Given the description of an element on the screen output the (x, y) to click on. 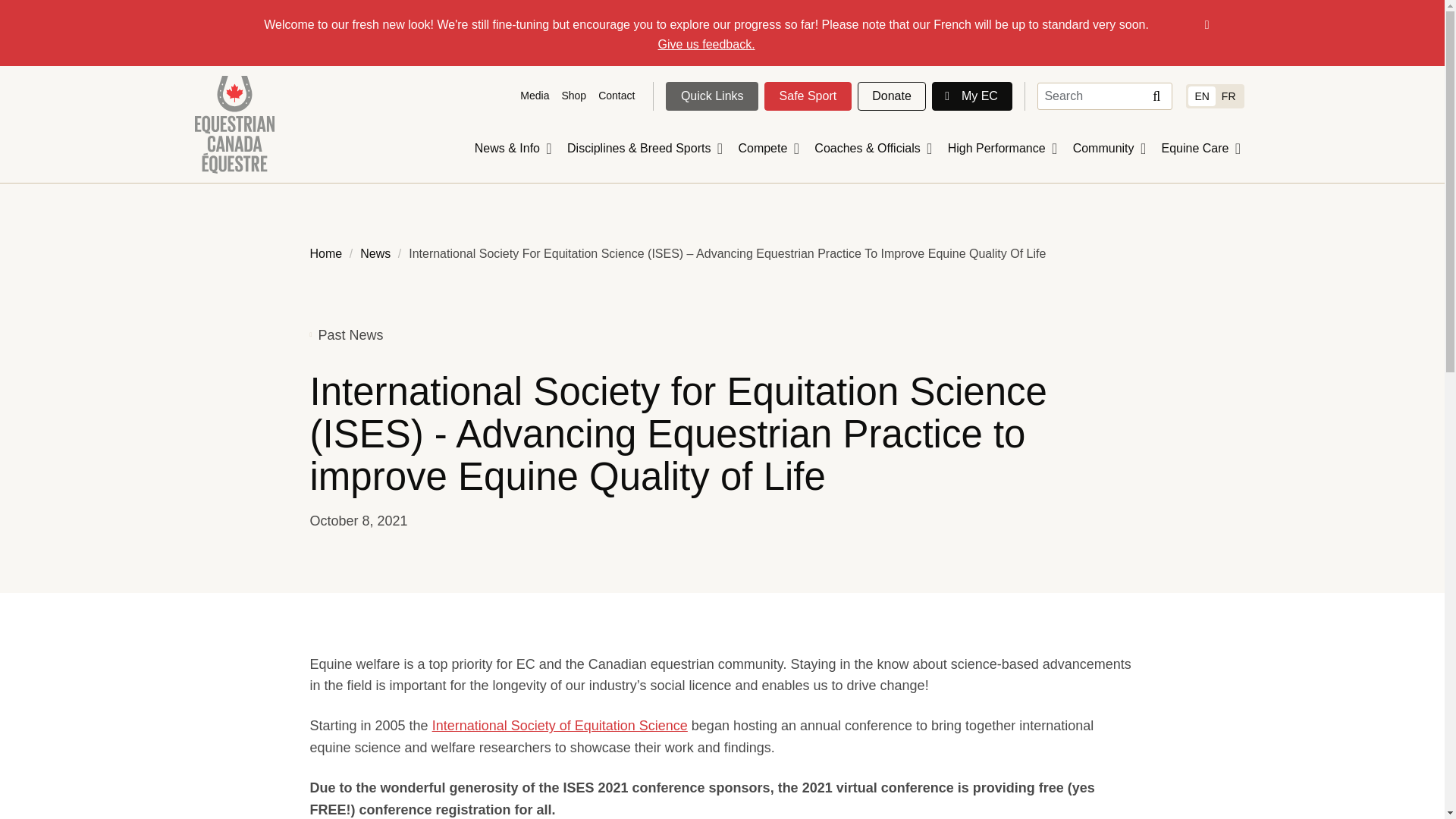
Shop (573, 95)
Media (533, 95)
Contact (616, 95)
Donate (891, 95)
EN (1201, 96)
Safe Sport (807, 95)
My EC (971, 95)
Quick Links (711, 95)
Give us feedback. (706, 43)
FR (1228, 96)
